Given the description of an element on the screen output the (x, y) to click on. 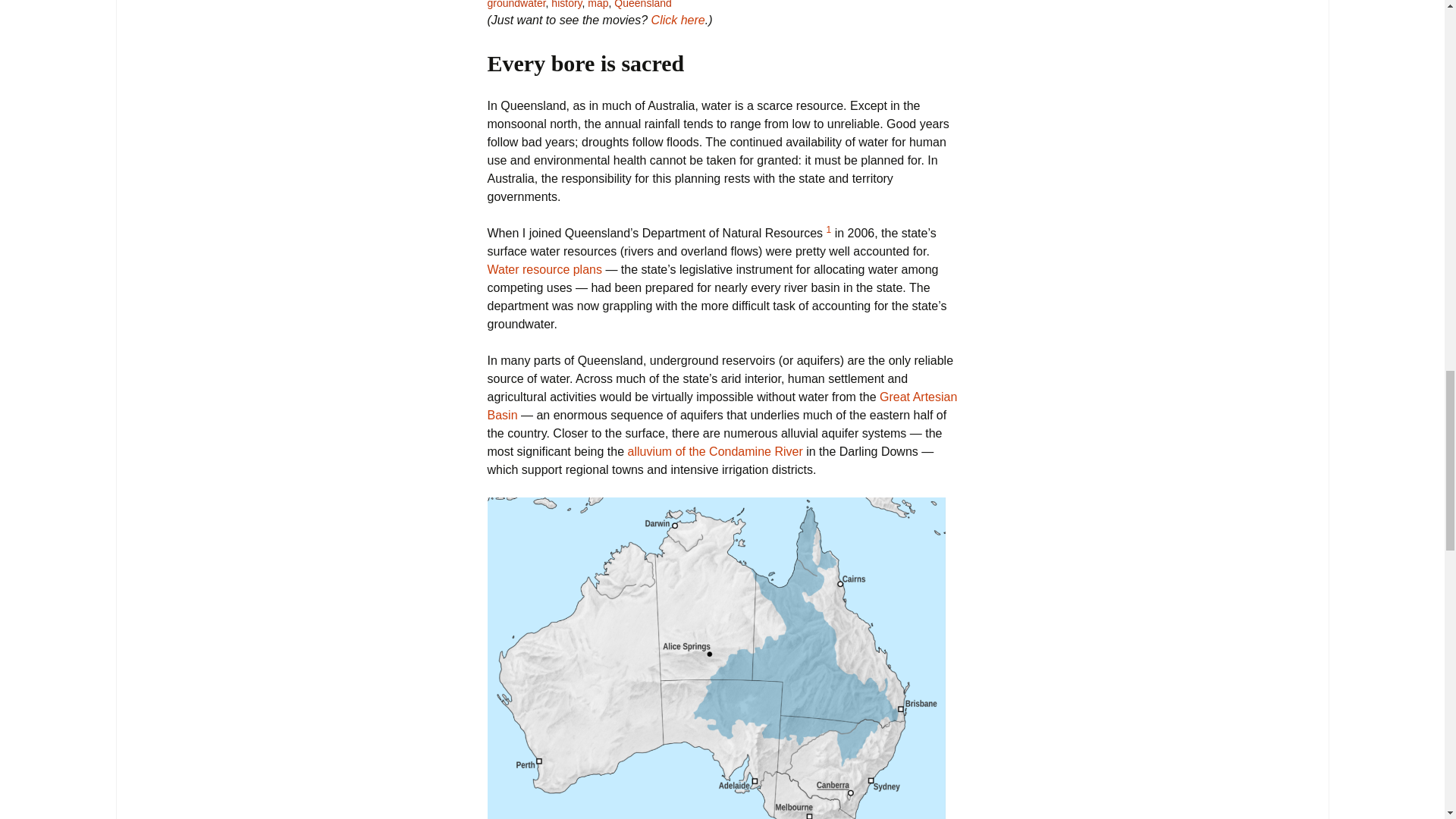
Great Artesian Basin (721, 405)
Queensland (642, 4)
history (565, 4)
groundwater (515, 4)
Click here (677, 19)
map (598, 4)
Water resource plans (543, 269)
